Given the description of an element on the screen output the (x, y) to click on. 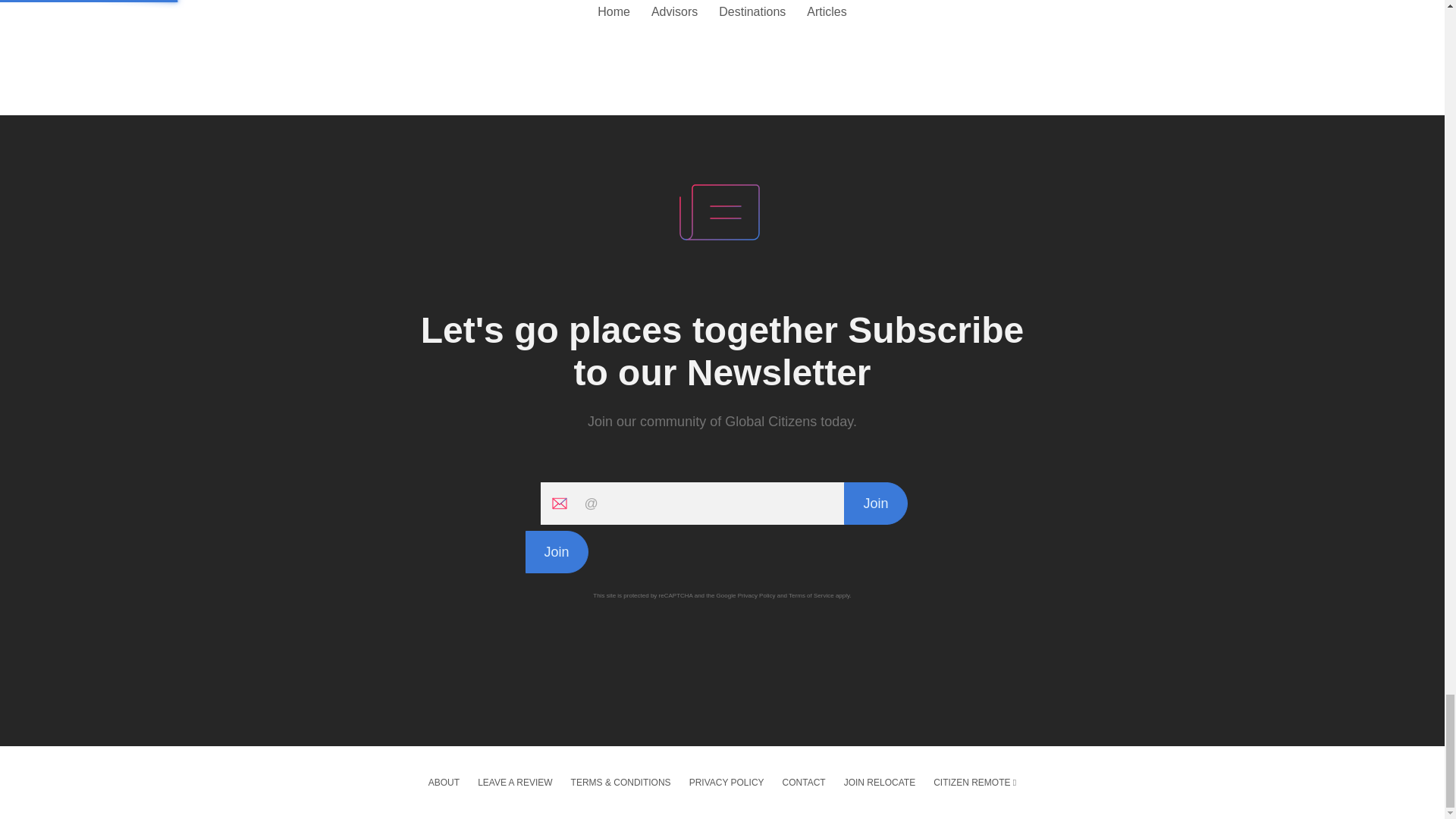
ABOUT (444, 782)
PRIVACY POLICY (726, 782)
CONTACT (804, 782)
Terms of Service (811, 595)
Join (556, 551)
JOIN RELOCATE (879, 782)
Privacy Policy (757, 595)
See all articles (721, 26)
Join (875, 503)
LEAVE A REVIEW (514, 782)
